Given the description of an element on the screen output the (x, y) to click on. 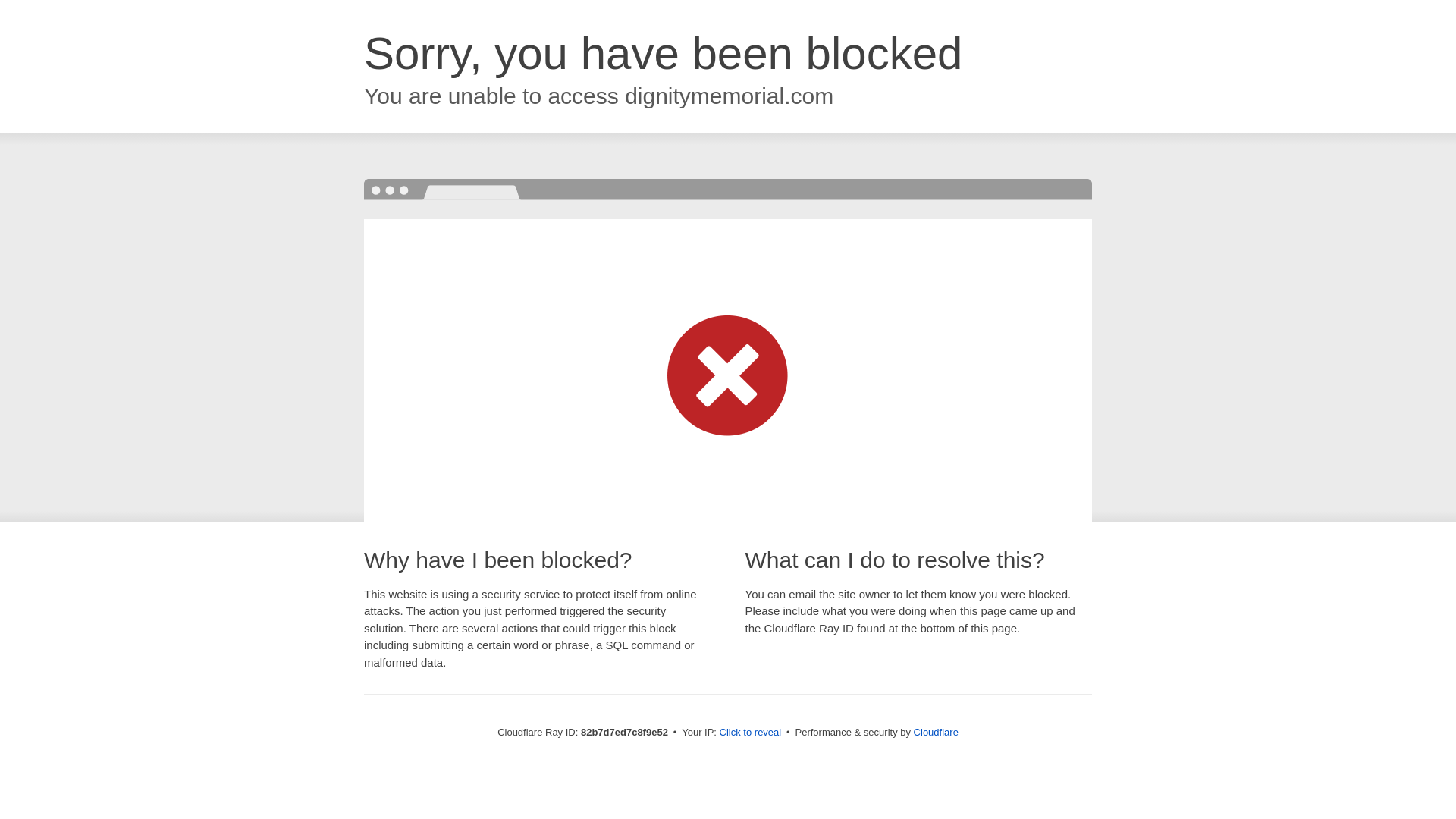
Cloudflare Element type: text (935, 731)
Click to reveal Element type: text (750, 732)
